Given the description of an element on the screen output the (x, y) to click on. 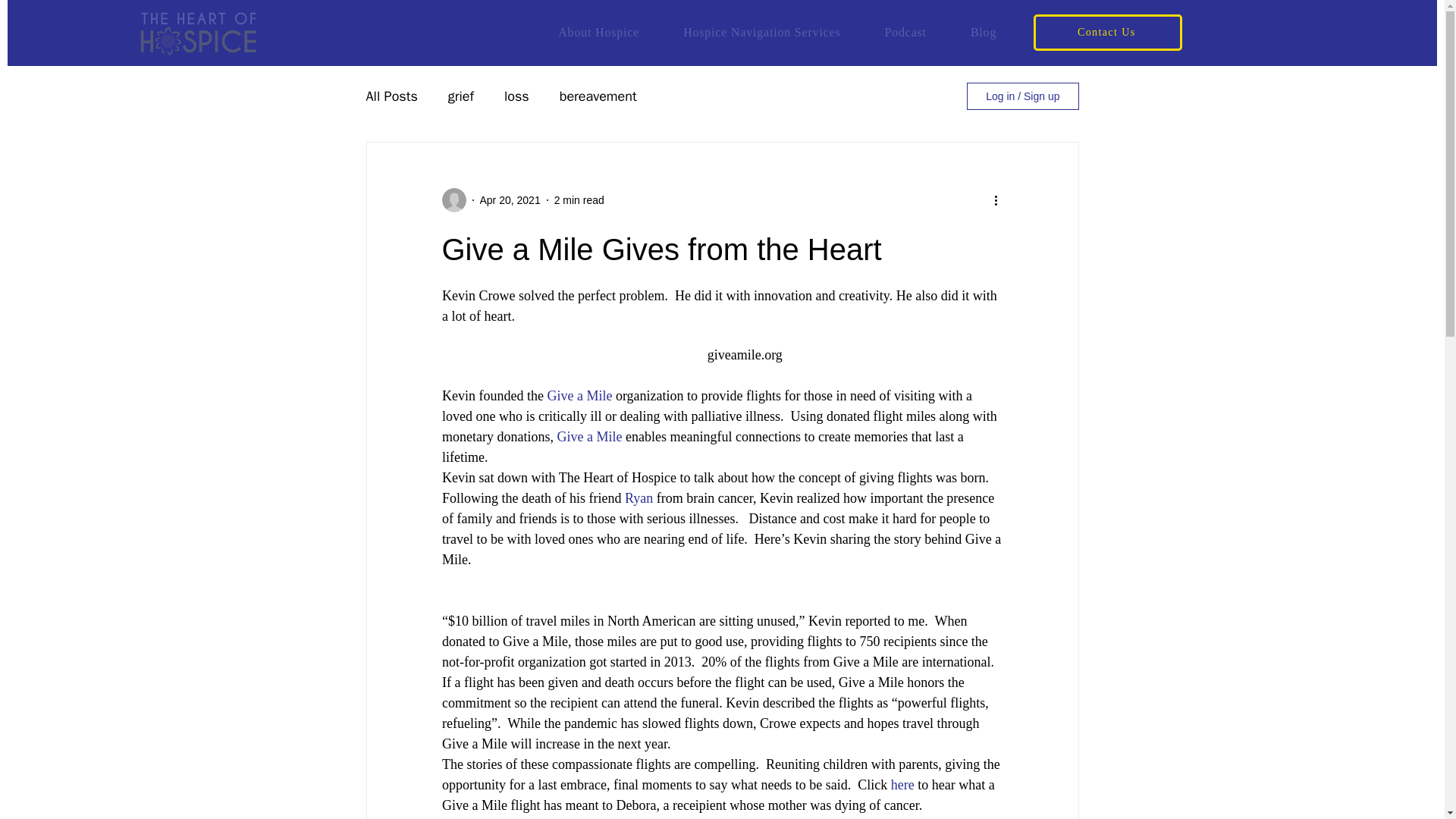
loss (516, 95)
Give a Mile (588, 436)
Podcast (904, 32)
Blog (776, 32)
2 min read (983, 32)
here (579, 200)
Contact Us (901, 784)
Apr 20, 2021 (1107, 32)
About Hospice (509, 200)
